Given the description of an element on the screen output the (x, y) to click on. 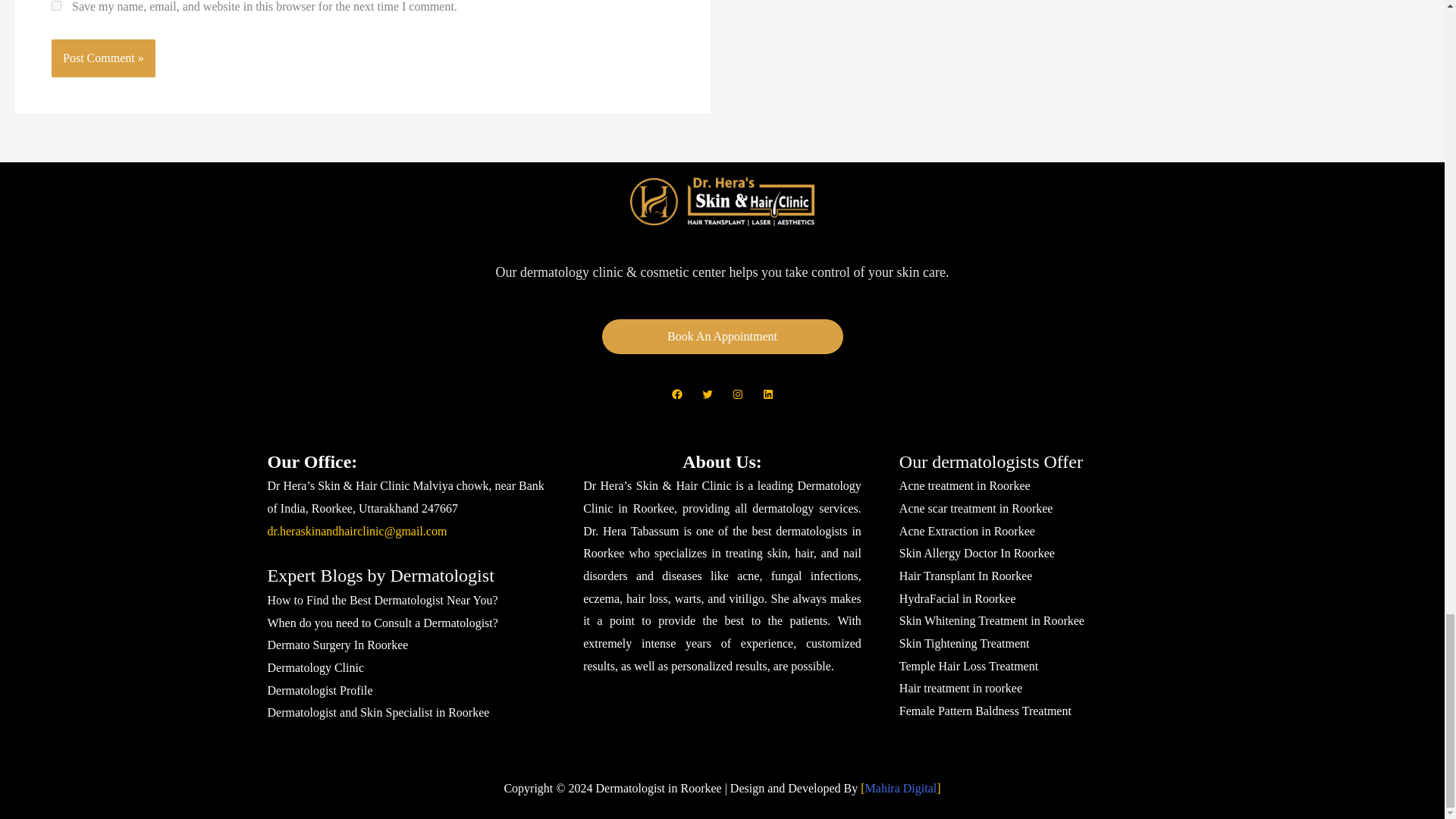
Skin Allergy Doctor In Roorkee (976, 553)
Acne scar treatment in Roorkee (975, 508)
Dermato Surgery In Roorkee (336, 644)
Dermatologist and Skin Specialist in Roorkee (377, 712)
Dermatologist Profile (319, 689)
yes (55, 5)
Hair Transplant In Roorkee (965, 575)
Acne treatment in Roorkee (964, 485)
How to Find the Best Dermatologist Near You? (381, 599)
HydraFacial in Roorkee (957, 598)
Acne Extraction in Roorkee (967, 530)
When do you need to Consult a Dermatologist? (381, 622)
Clinic (315, 667)
